Given the description of an element on the screen output the (x, y) to click on. 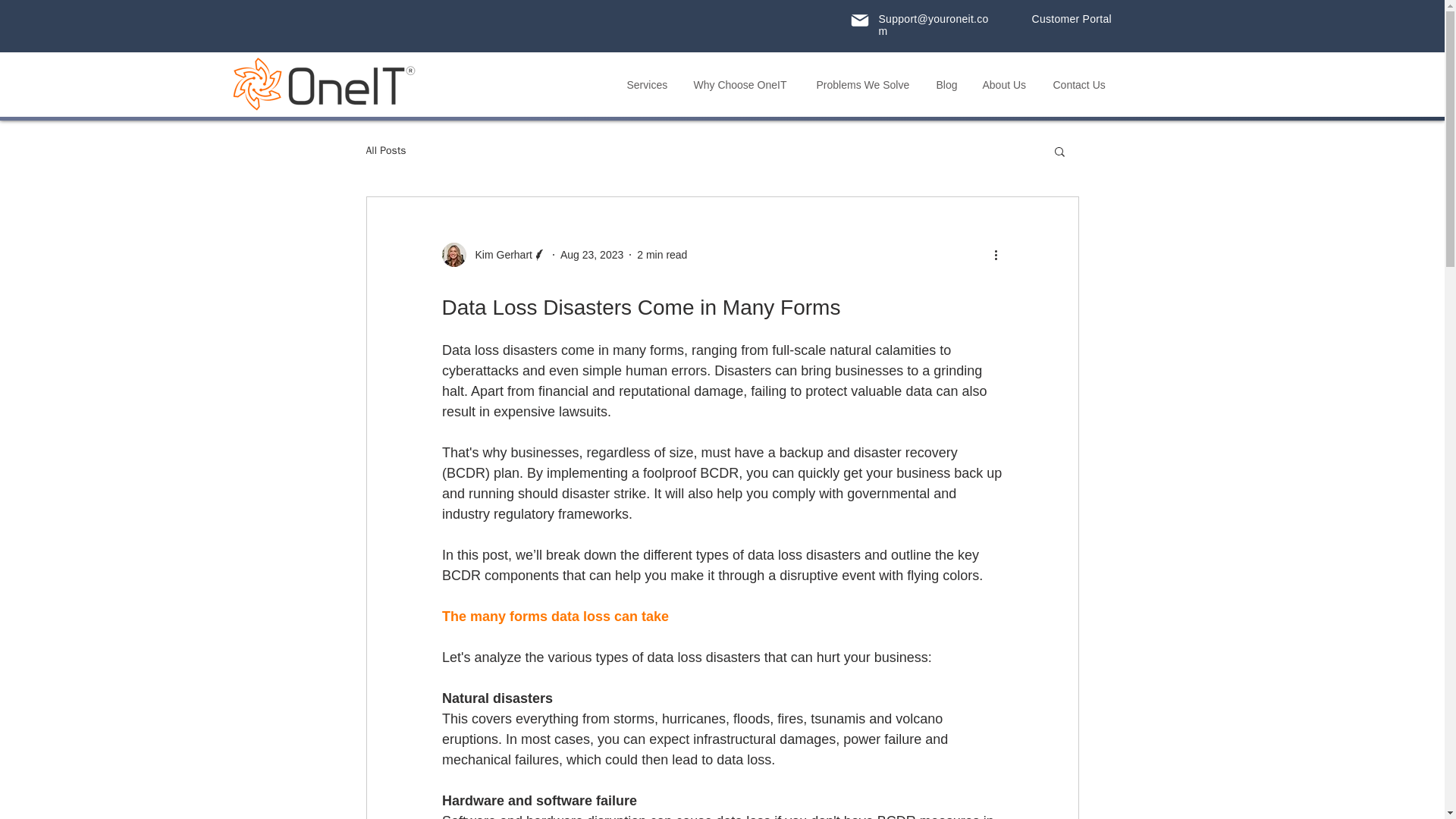
All Posts (385, 151)
Blog (951, 84)
Kim Gerhart (498, 254)
Why Choose OneIT (746, 84)
Problems We Solve (868, 84)
Aug 23, 2023 (591, 254)
Customer Portal (1070, 19)
2 min read (662, 254)
Contact Us (1084, 84)
About Us (1010, 84)
Kim Gerhart (493, 254)
